Given the description of an element on the screen output the (x, y) to click on. 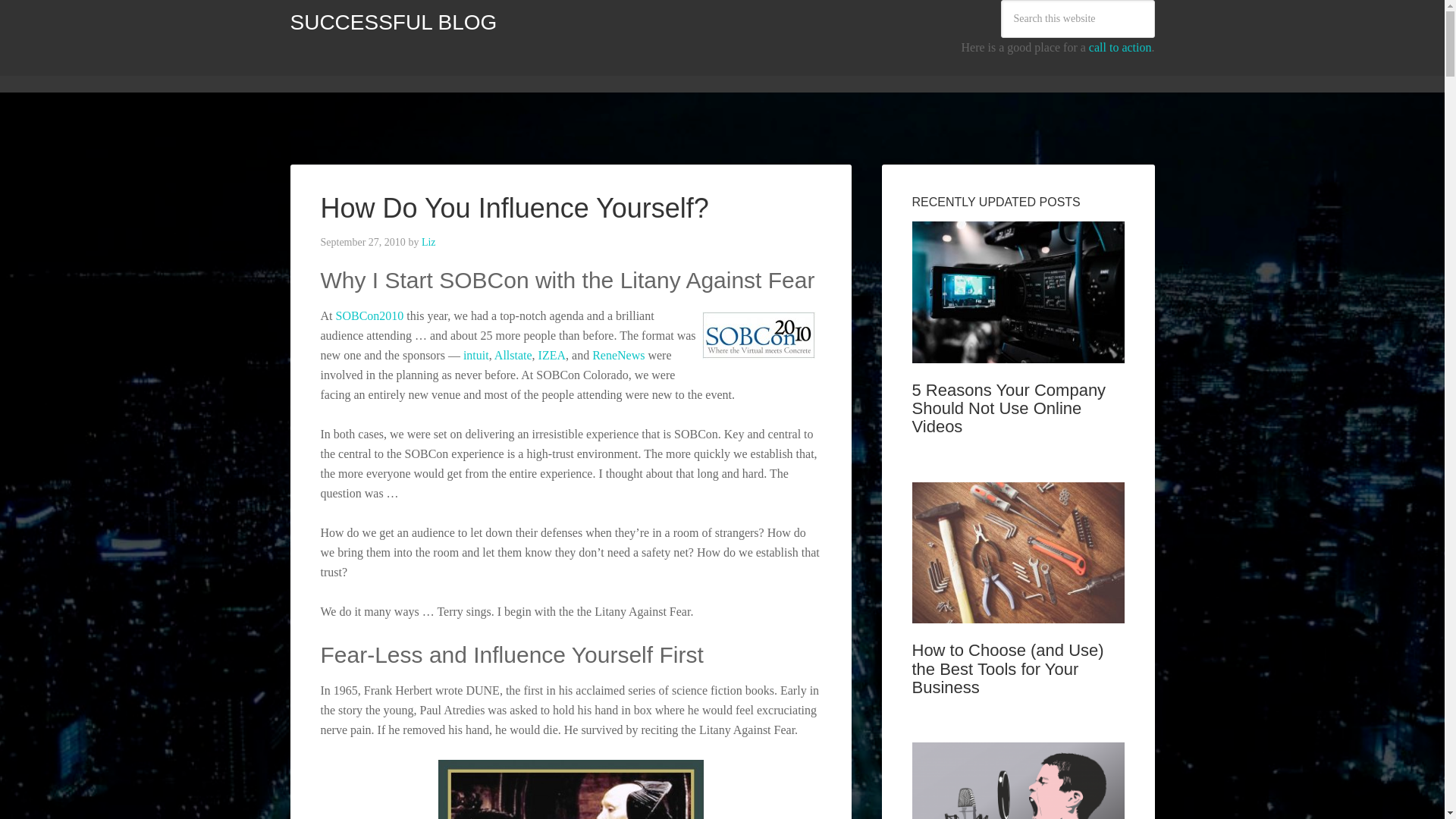
Author Guidelines (535, 68)
Home (315, 68)
SOBCon2010 (368, 315)
About (452, 68)
SUCCESSFUL BLOG (392, 22)
sobcon-vmc (758, 335)
intuit (476, 354)
ReneNews (618, 354)
Stay Tuned (707, 68)
Allstate (513, 354)
call to action (1120, 47)
IZEA (552, 354)
Community (384, 68)
Liz (428, 242)
How Do You Influence Yourself? (513, 207)
